Given the description of an element on the screen output the (x, y) to click on. 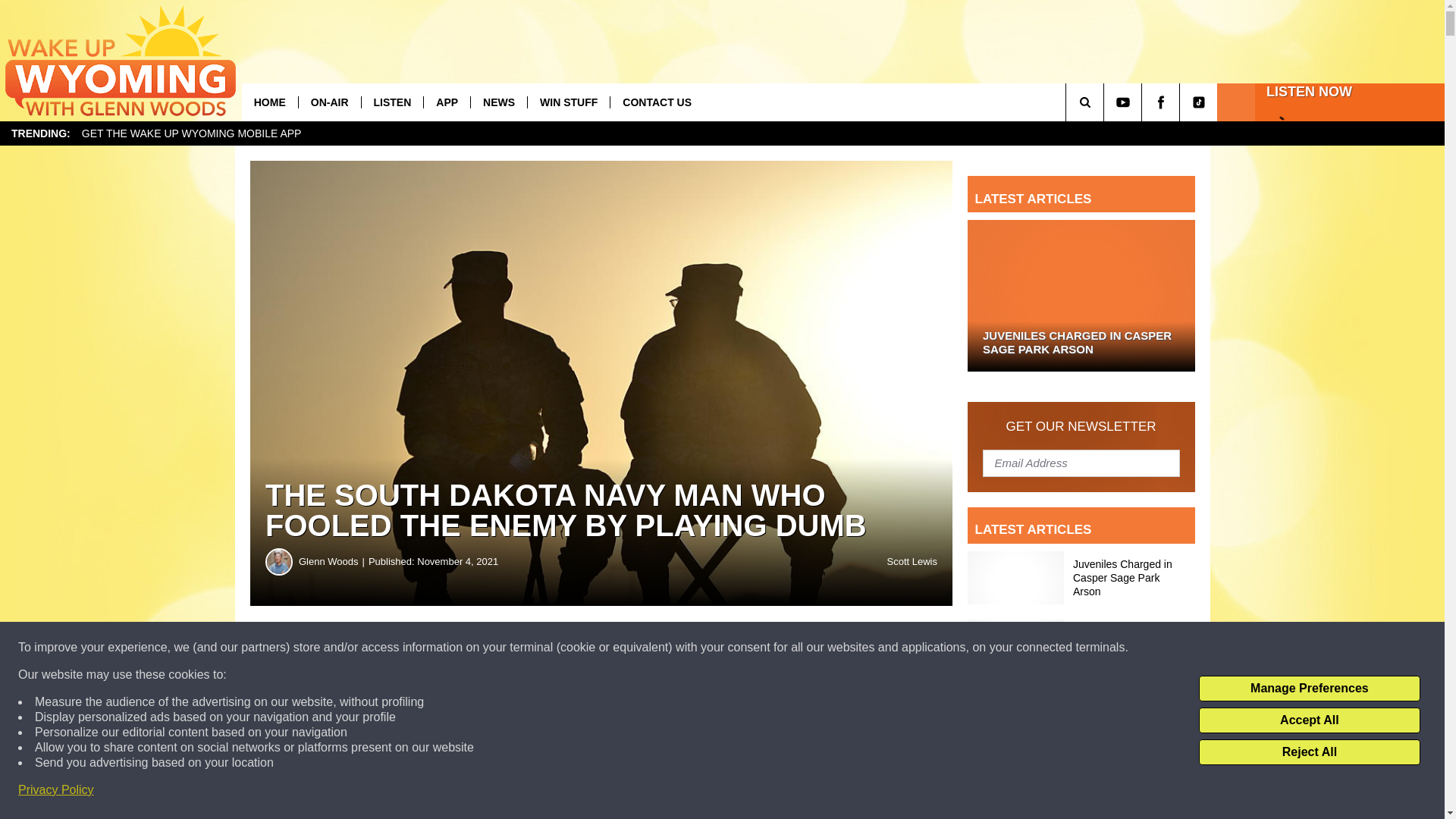
GET THE WAKE UP WYOMING MOBILE APP (191, 133)
SEARCH (1106, 102)
LISTEN (392, 102)
Reject All (1309, 751)
NEWS (498, 102)
CONTACT US (656, 102)
Email Address (1080, 461)
Accept All (1309, 720)
WIN STUFF (568, 102)
Privacy Policy (55, 789)
